Given the description of an element on the screen output the (x, y) to click on. 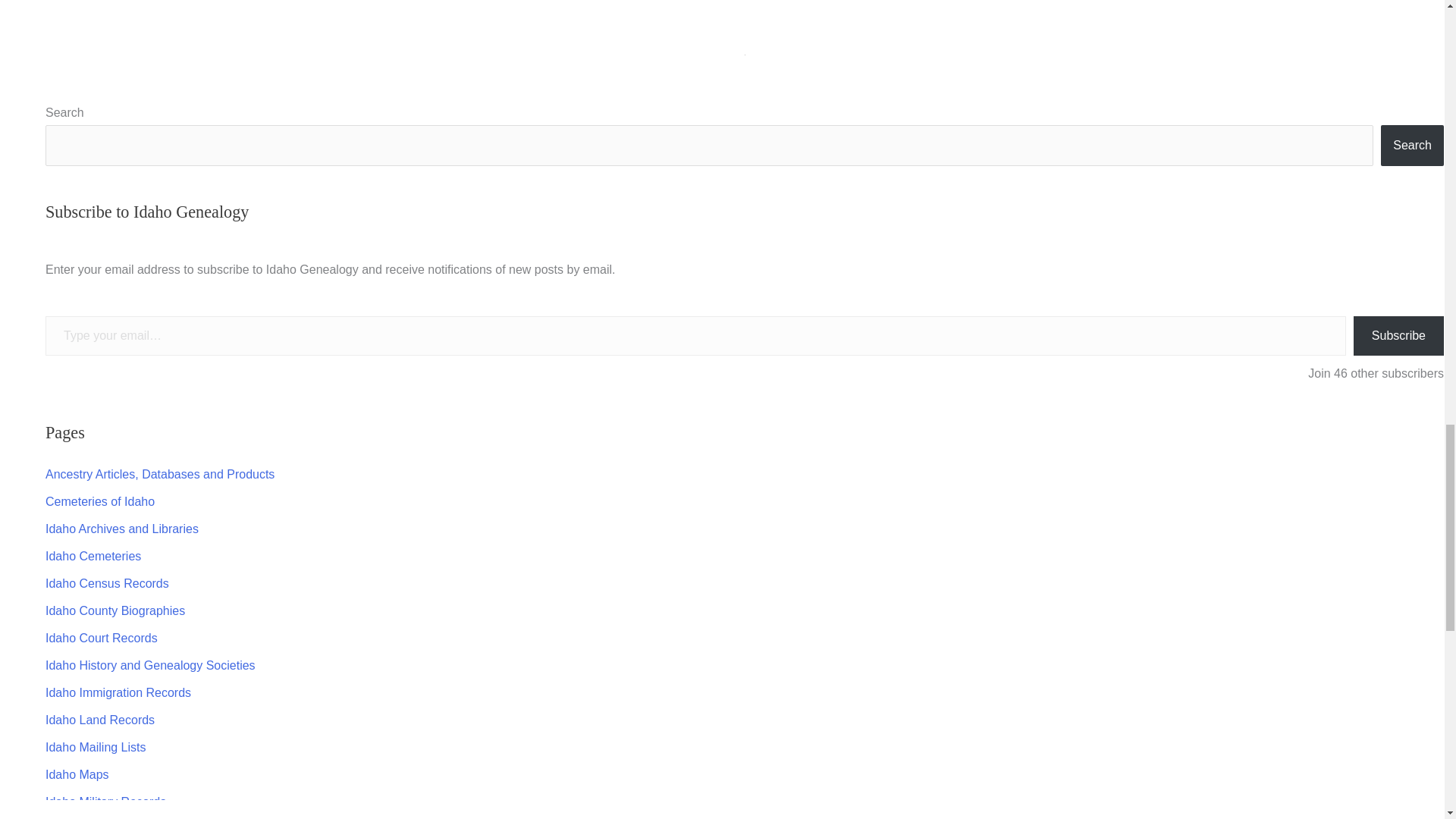
Ancestry Articles, Databases and Products (160, 473)
Please fill in this field. (695, 336)
Idaho Census Records (106, 583)
Idaho County Biographies (114, 610)
Subscribe (1399, 336)
Idaho Immigration Records (117, 692)
Search (1412, 145)
Idaho History and Genealogy Societies (150, 665)
Idaho Court Records (101, 637)
Idaho Archives and Libraries (121, 528)
